Given the description of an element on the screen output the (x, y) to click on. 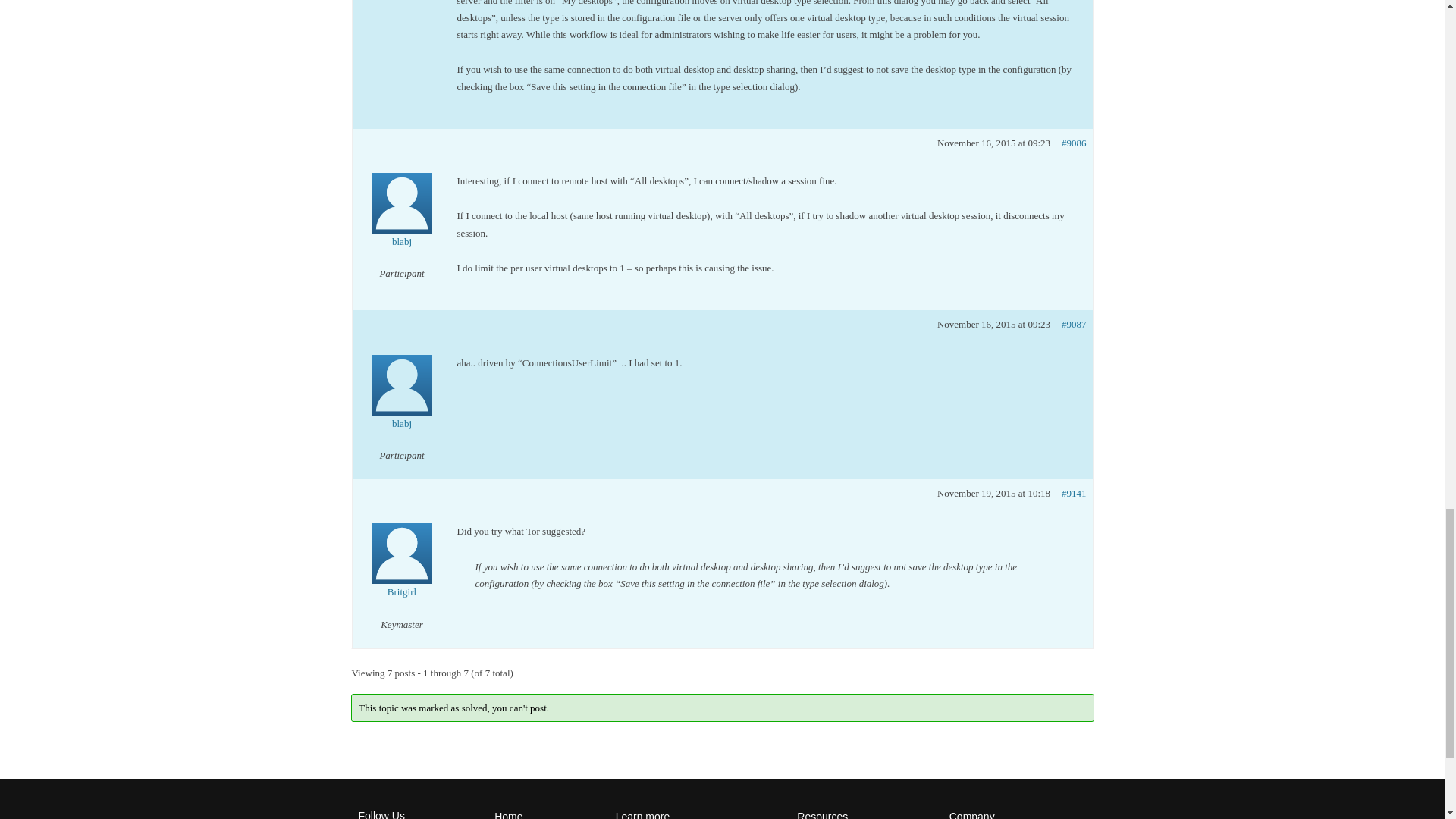
View blabj's profile (401, 402)
View blabj's profile (401, 220)
View Britgirl's profile (401, 571)
